Given the description of an element on the screen output the (x, y) to click on. 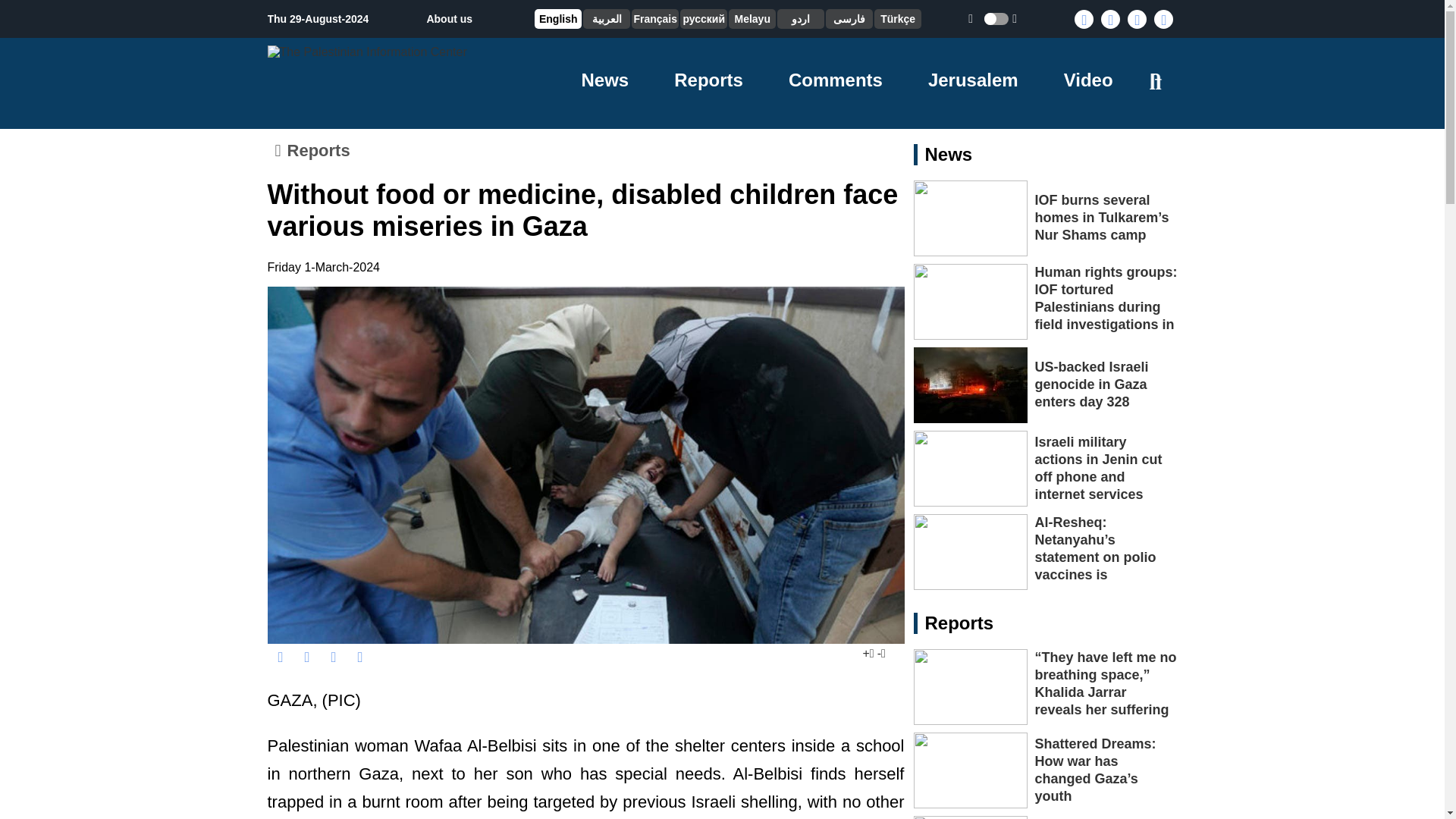
Melayu (751, 19)
Reports (316, 149)
News (604, 79)
Reports (708, 79)
Comments (835, 79)
Jerusalem (972, 79)
About us (448, 19)
Video (1088, 79)
